Given the description of an element on the screen output the (x, y) to click on. 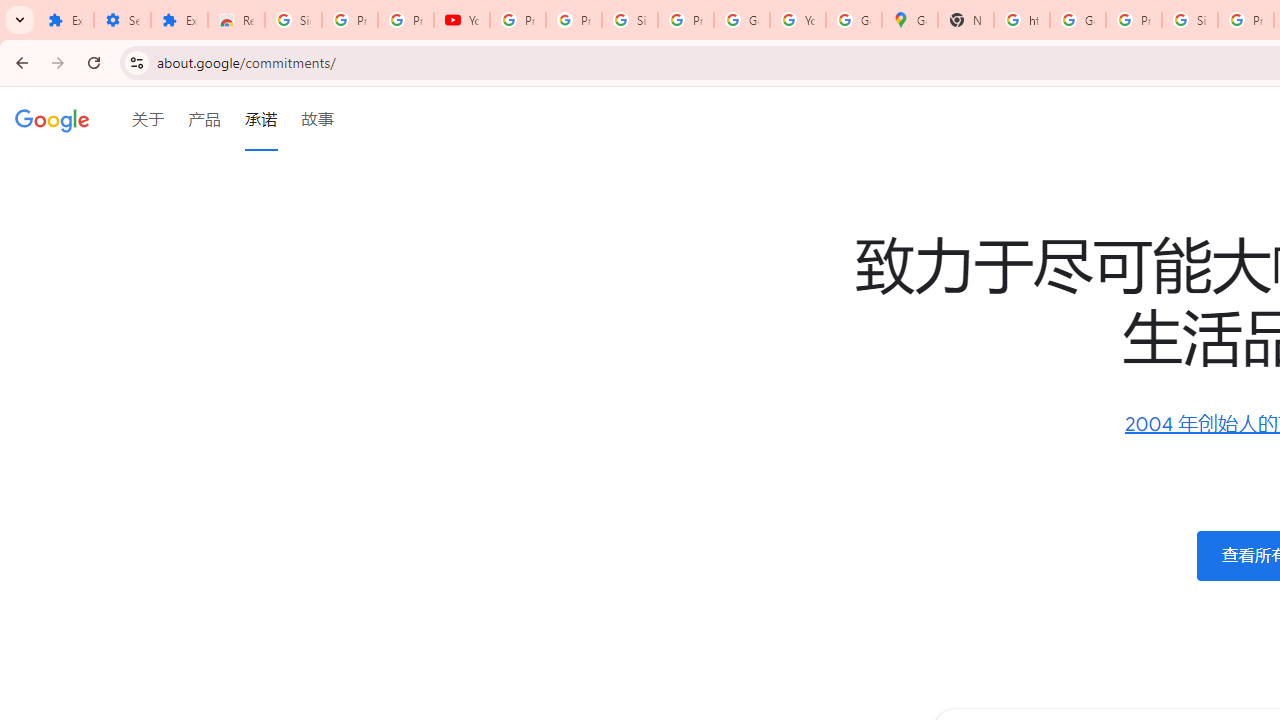
YouTube (461, 20)
Reviews: Helix Fruit Jump Arcade Game (235, 20)
Extensions (179, 20)
